Given the description of an element on the screen output the (x, y) to click on. 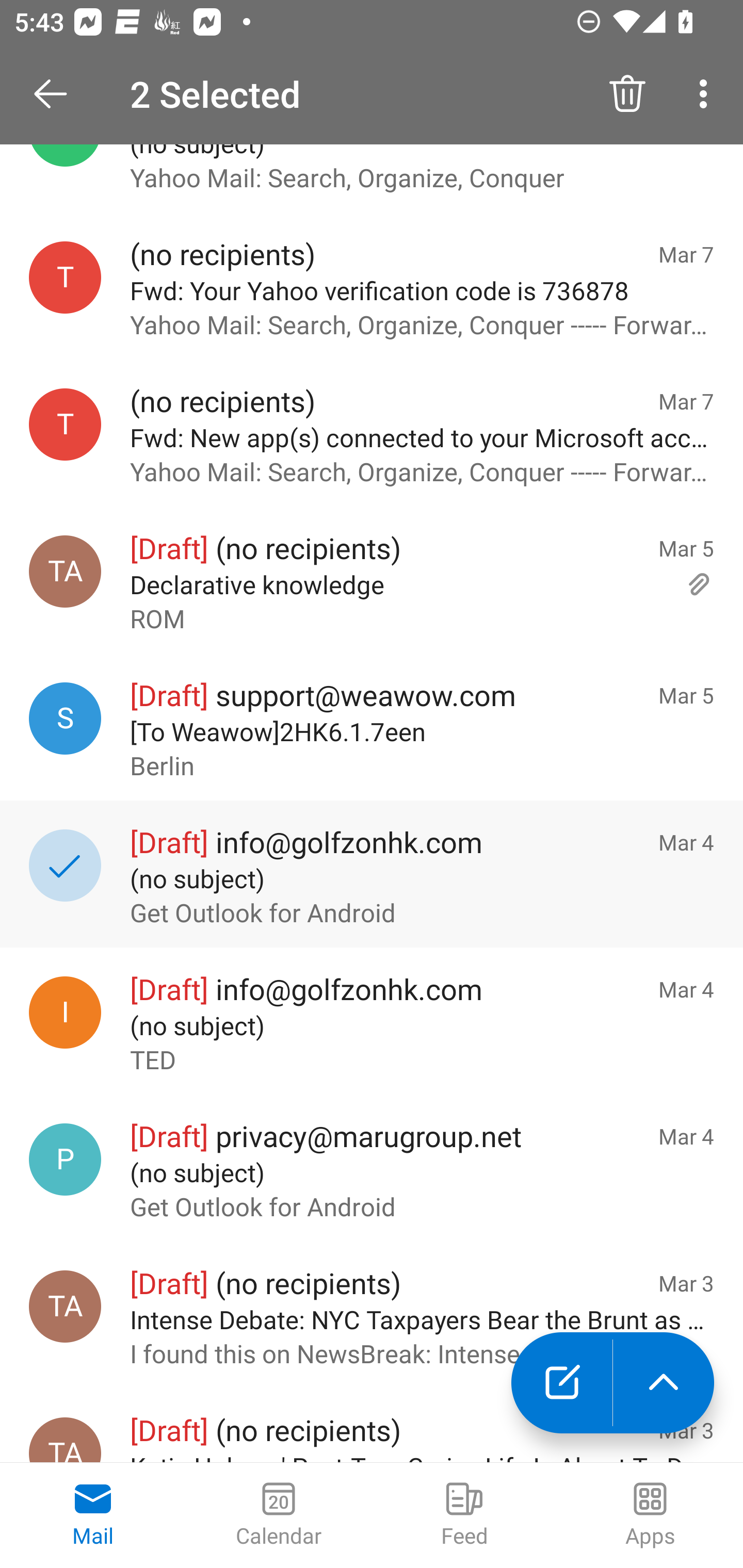
Delete (626, 93)
More options (706, 93)
Open Navigation Drawer (57, 94)
testappium002@outlook.com (64, 277)
testappium002@outlook.com (64, 424)
Test Appium, testappium002@outlook.com (64, 571)
support@weawow.com (64, 718)
info@golfzonhk.com (64, 1012)
privacy@marugroup.net (64, 1158)
Test Appium, testappium002@outlook.com (64, 1306)
New mail (561, 1382)
launch the extended action menu (663, 1382)
Test Appium, testappium002@outlook.com (64, 1439)
Calendar (278, 1515)
Feed (464, 1515)
Apps (650, 1515)
